Given the description of an element on the screen output the (x, y) to click on. 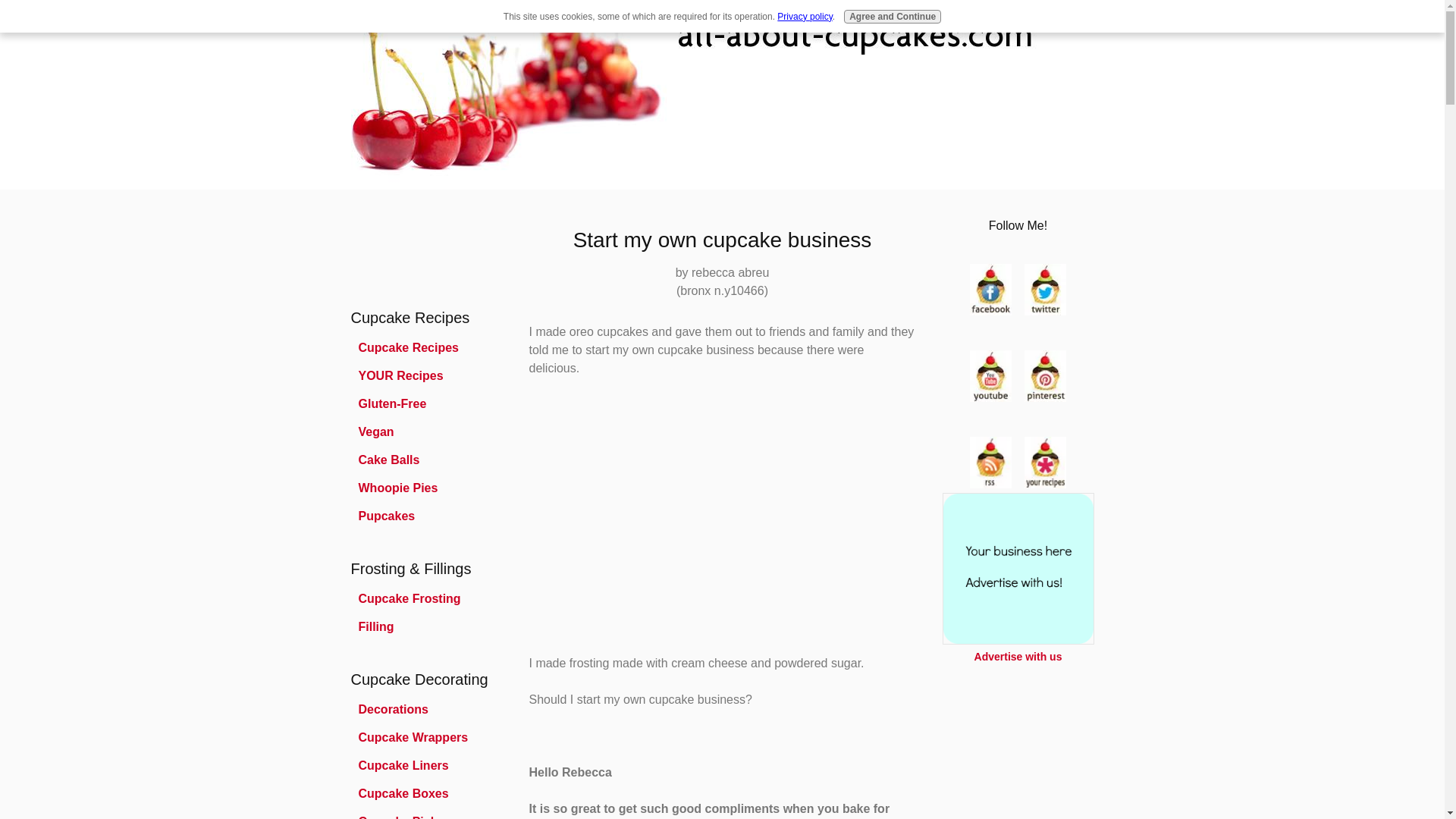
Decorations (426, 709)
Cupcake Recipes (426, 347)
Cupcake Boxes (426, 793)
Advertisement (721, 524)
Advertisement (395, 246)
Gluten-Free (426, 403)
Cupcake Picks (426, 814)
YOUR Recipes (426, 376)
Cake Balls (426, 460)
Cupcake Liners (426, 765)
Pupcakes (426, 516)
Vegan (426, 432)
Cupcake Wrappers (426, 737)
Cupcake Frosting (426, 598)
Filling (426, 626)
